Given the description of an element on the screen output the (x, y) to click on. 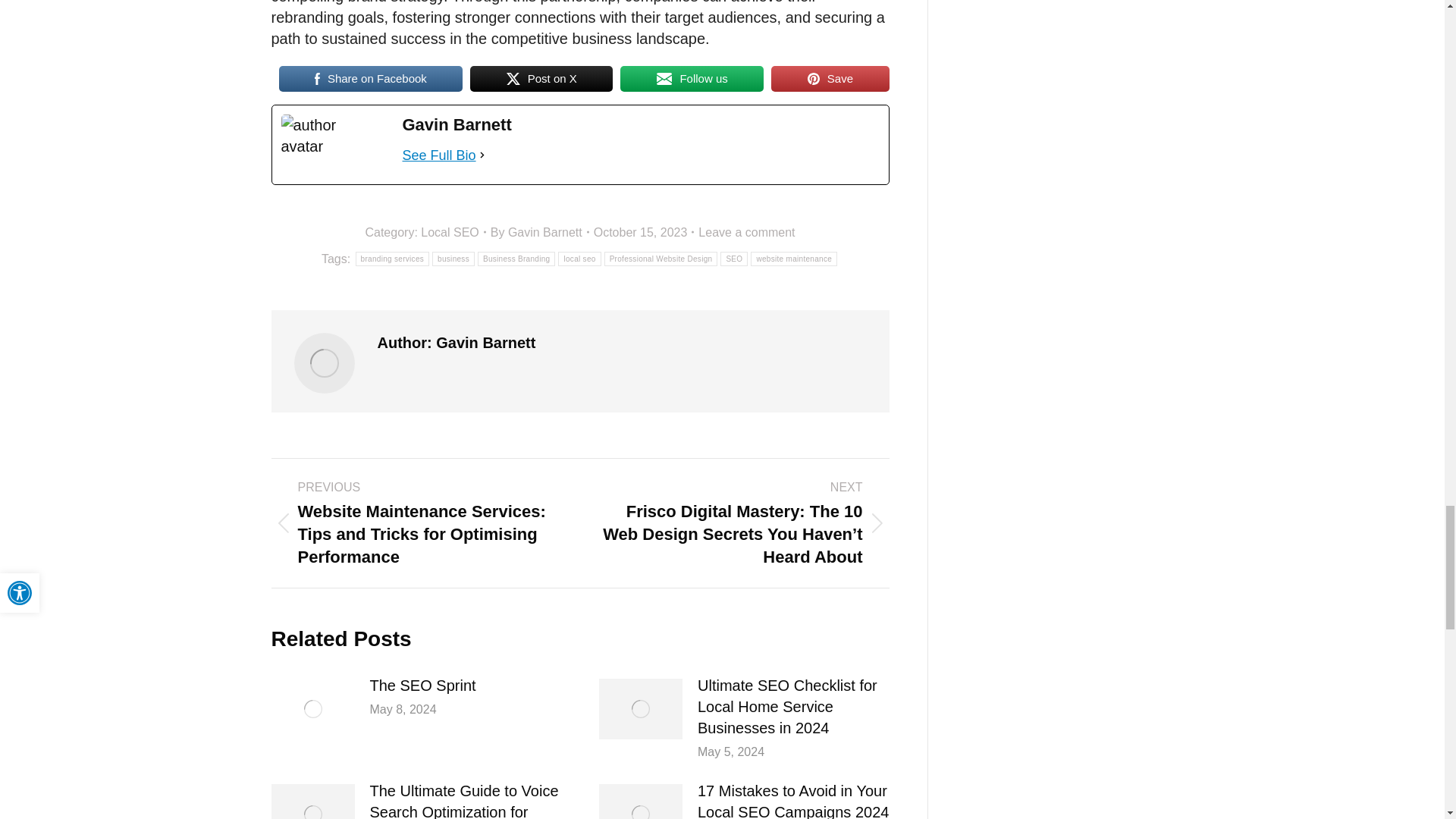
7:30 pm (644, 231)
View all posts by Gavin Barnett (539, 231)
